Given the description of an element on the screen output the (x, y) to click on. 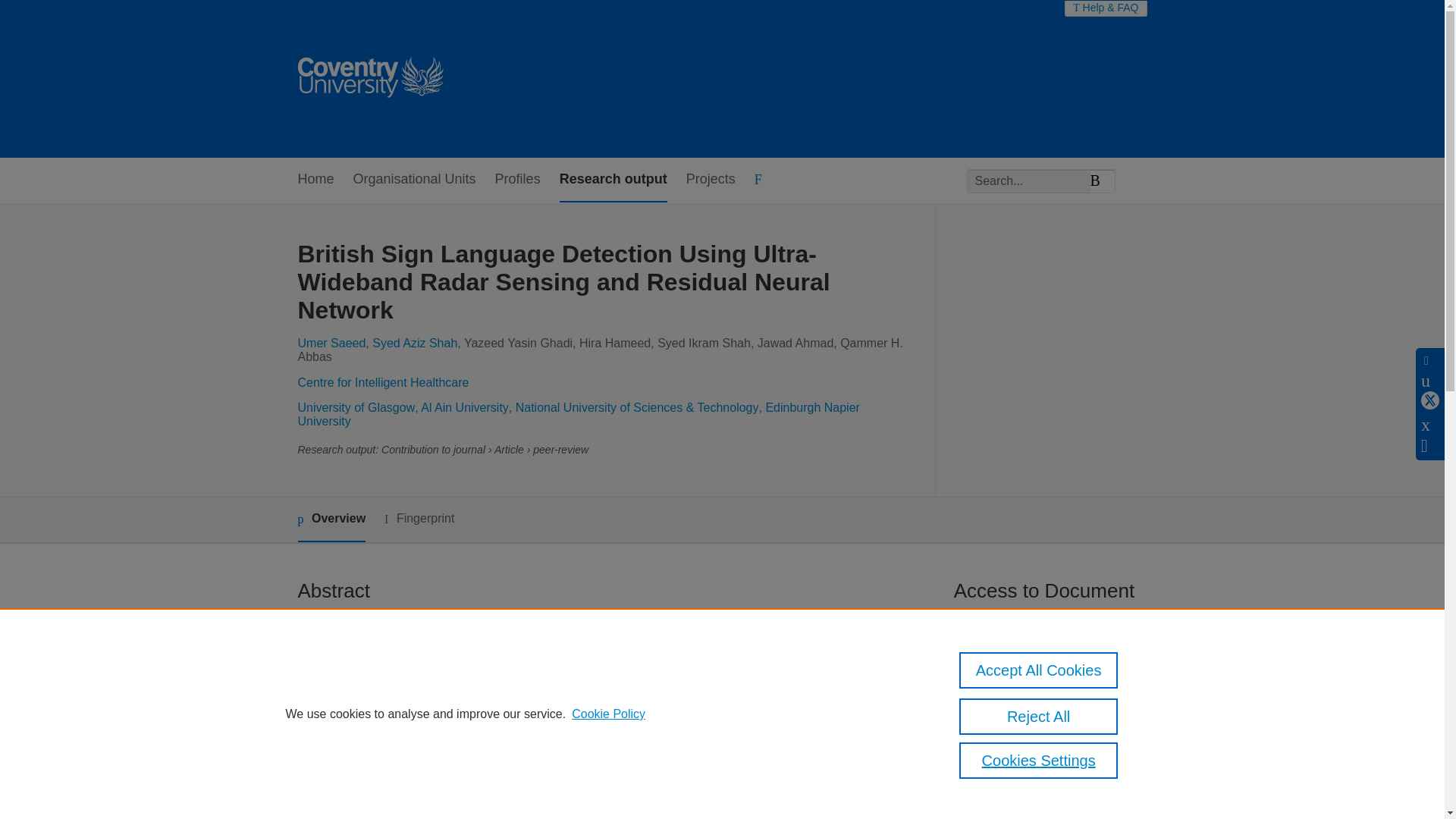
Edinburgh Napier University (578, 414)
Centre for Intelligent Healthcare (382, 382)
Al Ain University (464, 407)
University of Glasgow (355, 407)
Organisational Units (414, 180)
Overview (331, 519)
Fingerprint (419, 518)
Research output (612, 180)
Profiles (517, 180)
Syed Aziz Shah (414, 342)
Umer Saeed (331, 342)
Coventry University Home (369, 78)
Projects (710, 180)
